Given the description of an element on the screen output the (x, y) to click on. 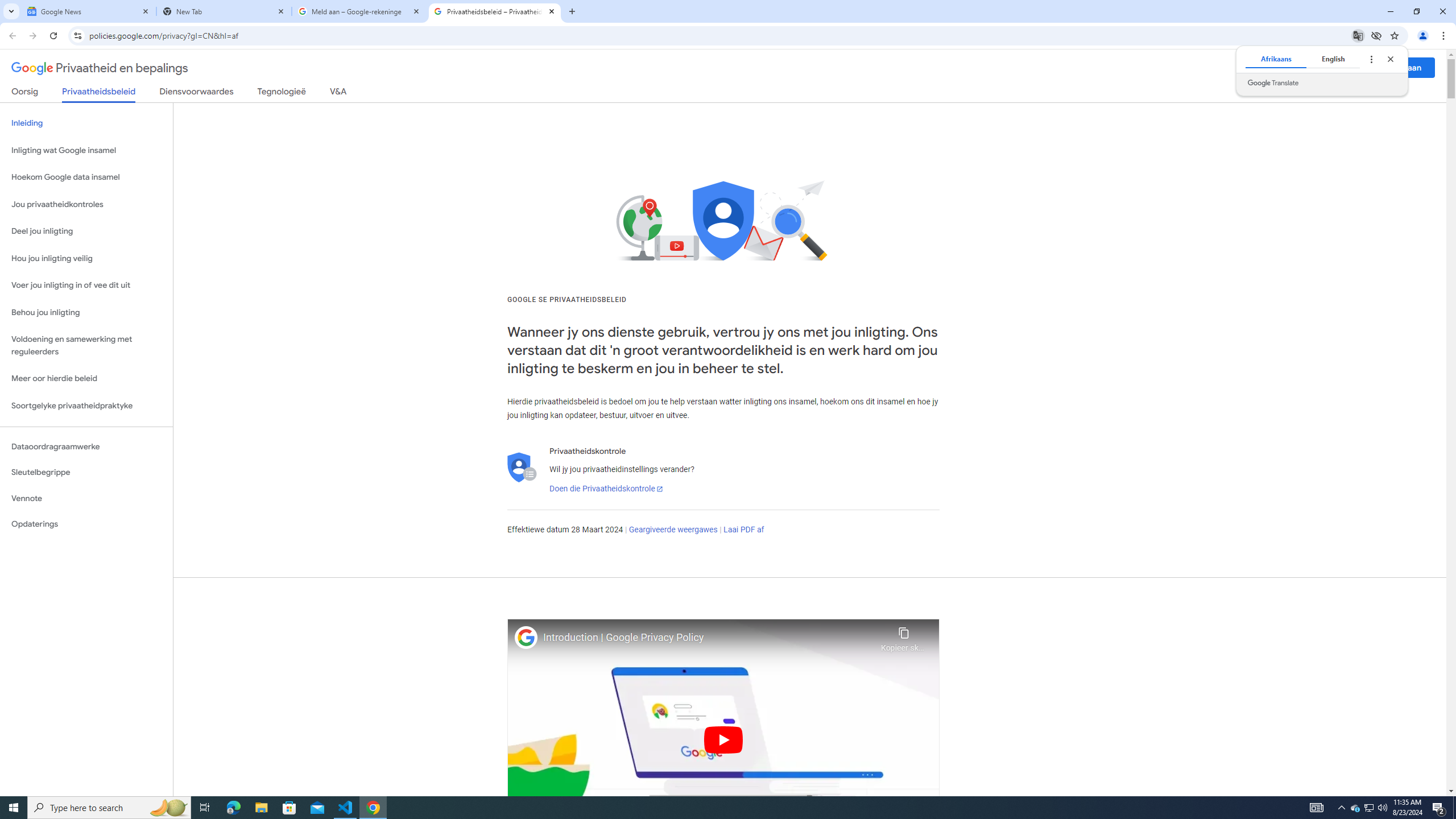
Introduction | Google Privacy Policy (709, 637)
Meld aan (1404, 67)
Translate this page (1358, 35)
Jou privaatheidkontroles (86, 204)
Dataoordragraamwerke (86, 446)
Afrikaans (1275, 58)
Speel (723, 739)
Sleutelbegrippe (86, 472)
Google-programme (1355, 67)
